Given the description of an element on the screen output the (x, y) to click on. 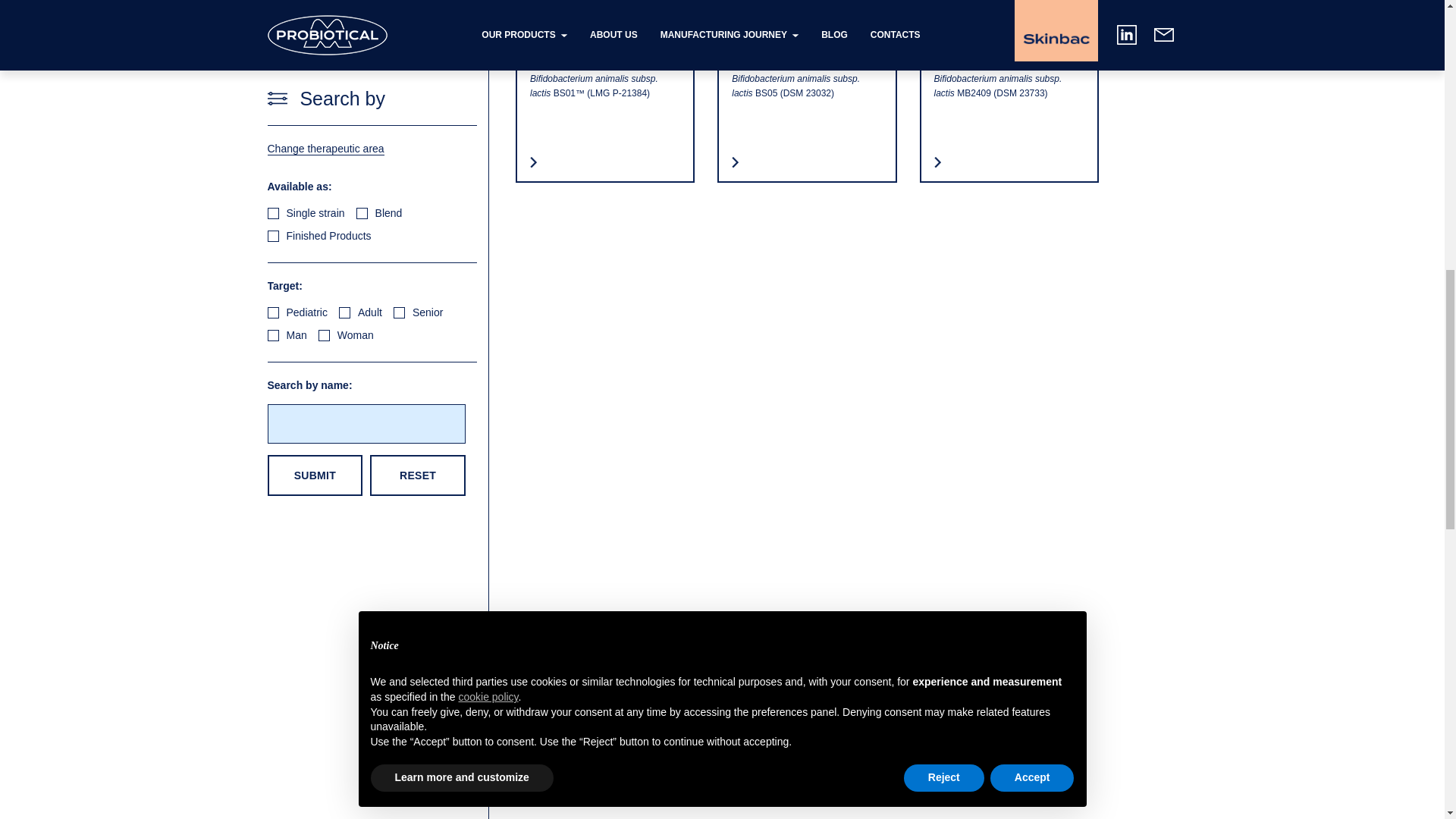
58 (398, 34)
60 (324, 57)
59 (272, 57)
57 (344, 34)
57 (344, 34)
56 (272, 34)
59 (272, 57)
60 (324, 57)
Submit (314, 197)
RESET (417, 197)
